Given the description of an element on the screen output the (x, y) to click on. 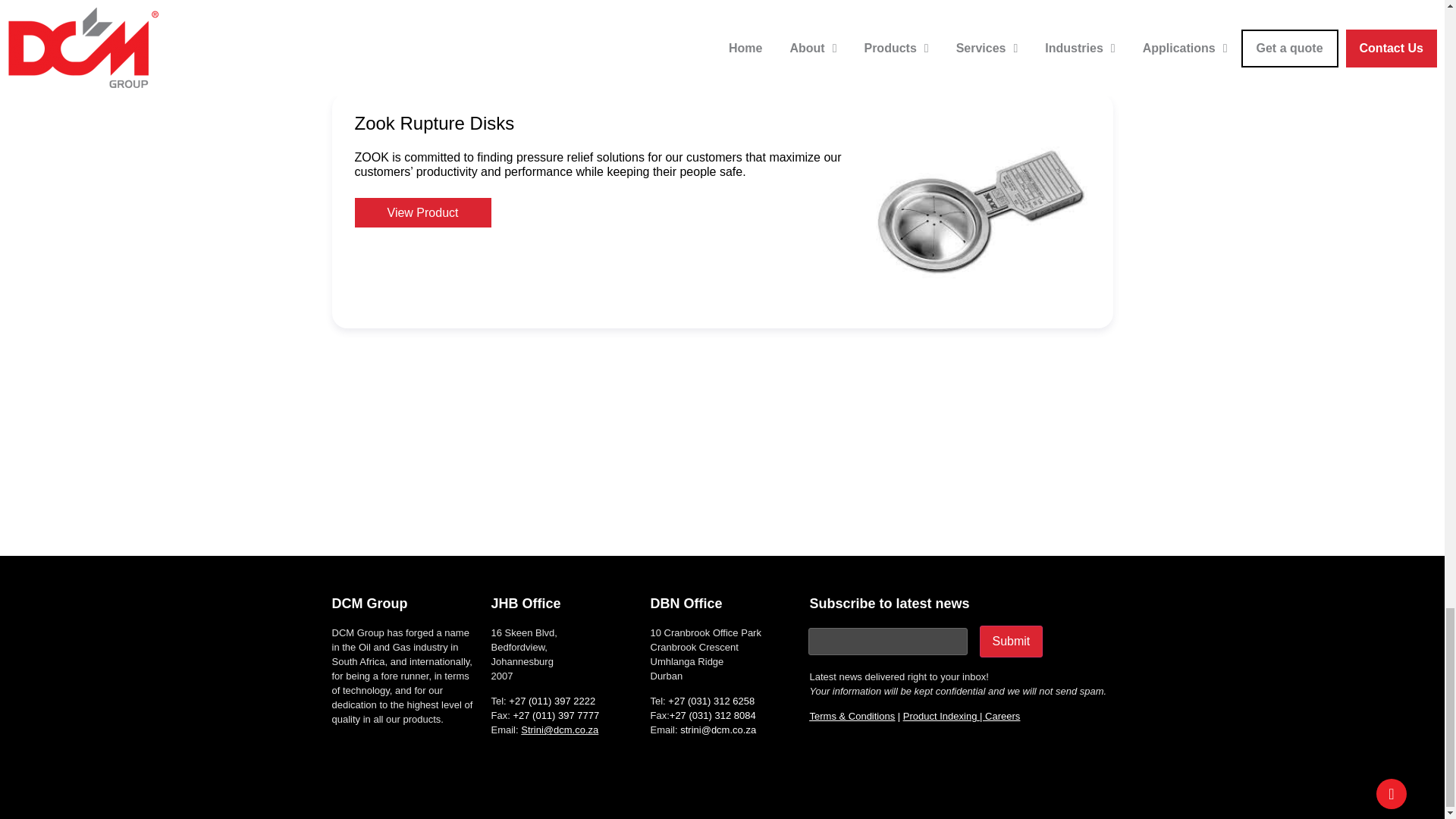
Submit (1011, 641)
